Given the description of an element on the screen output the (x, y) to click on. 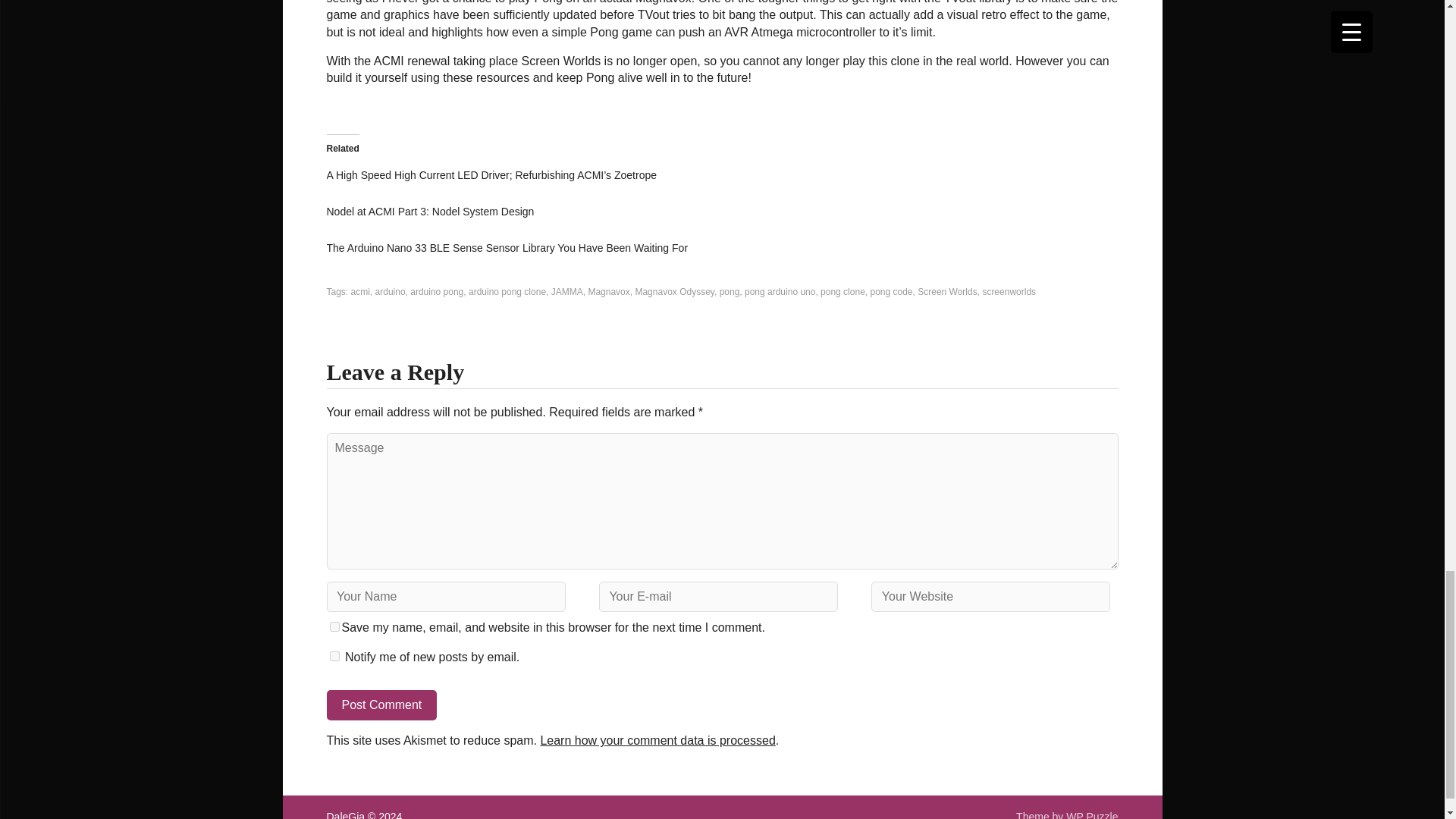
Magnavox (608, 291)
Post Comment (381, 705)
subscribe (334, 655)
arduino pong clone (507, 291)
pong clone (842, 291)
Learn how your comment data is processed (657, 739)
Nodel at ACMI Part 3: Nodel System Design (430, 211)
Post Comment (381, 705)
pong code (890, 291)
arduino (390, 291)
Magnavox Odyssey (674, 291)
pong arduino uno (779, 291)
acmi (359, 291)
